Given the description of an element on the screen output the (x, y) to click on. 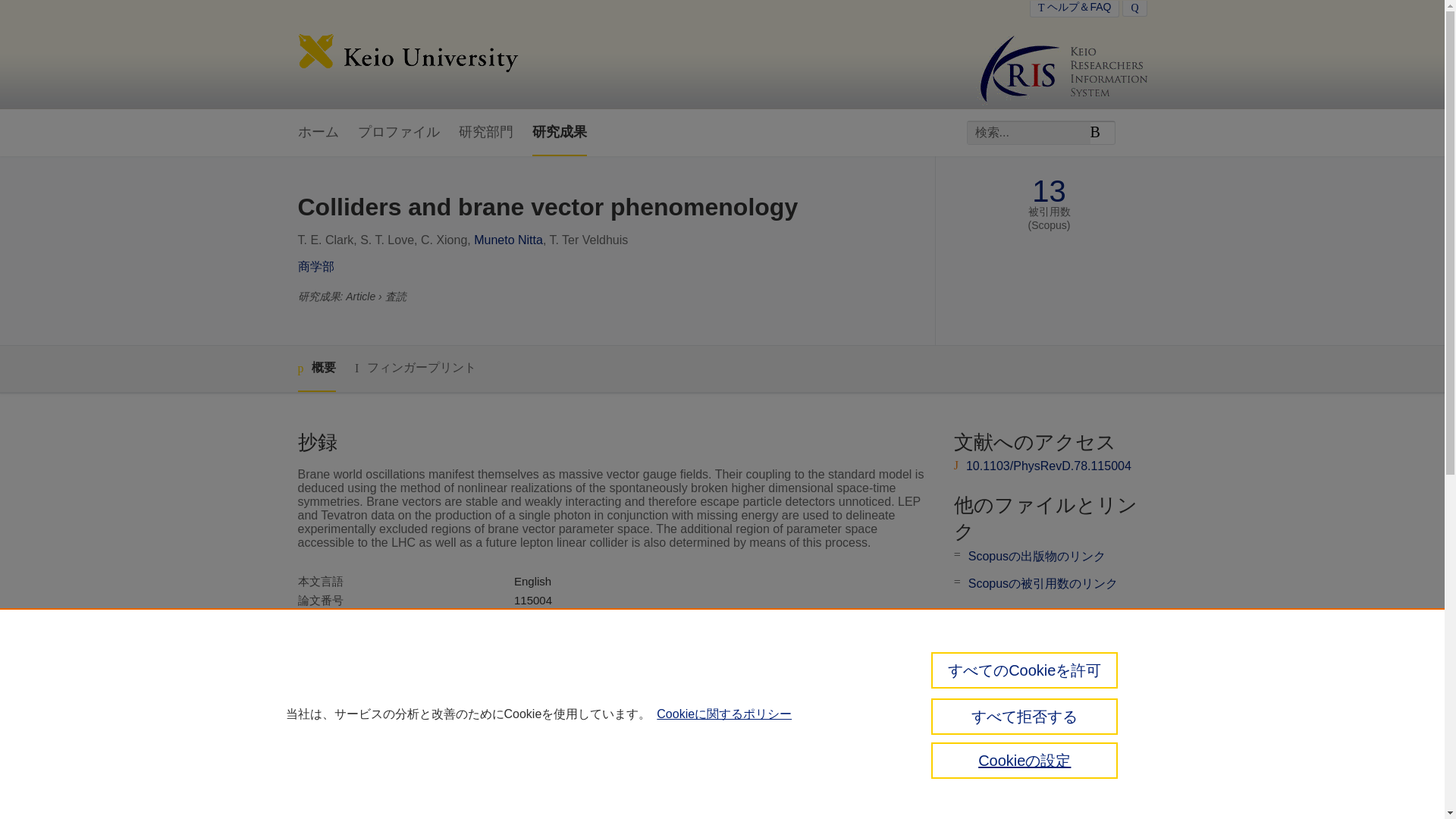
13 (1048, 191)
Muneto Nitta (508, 239)
